Given the description of an element on the screen output the (x, y) to click on. 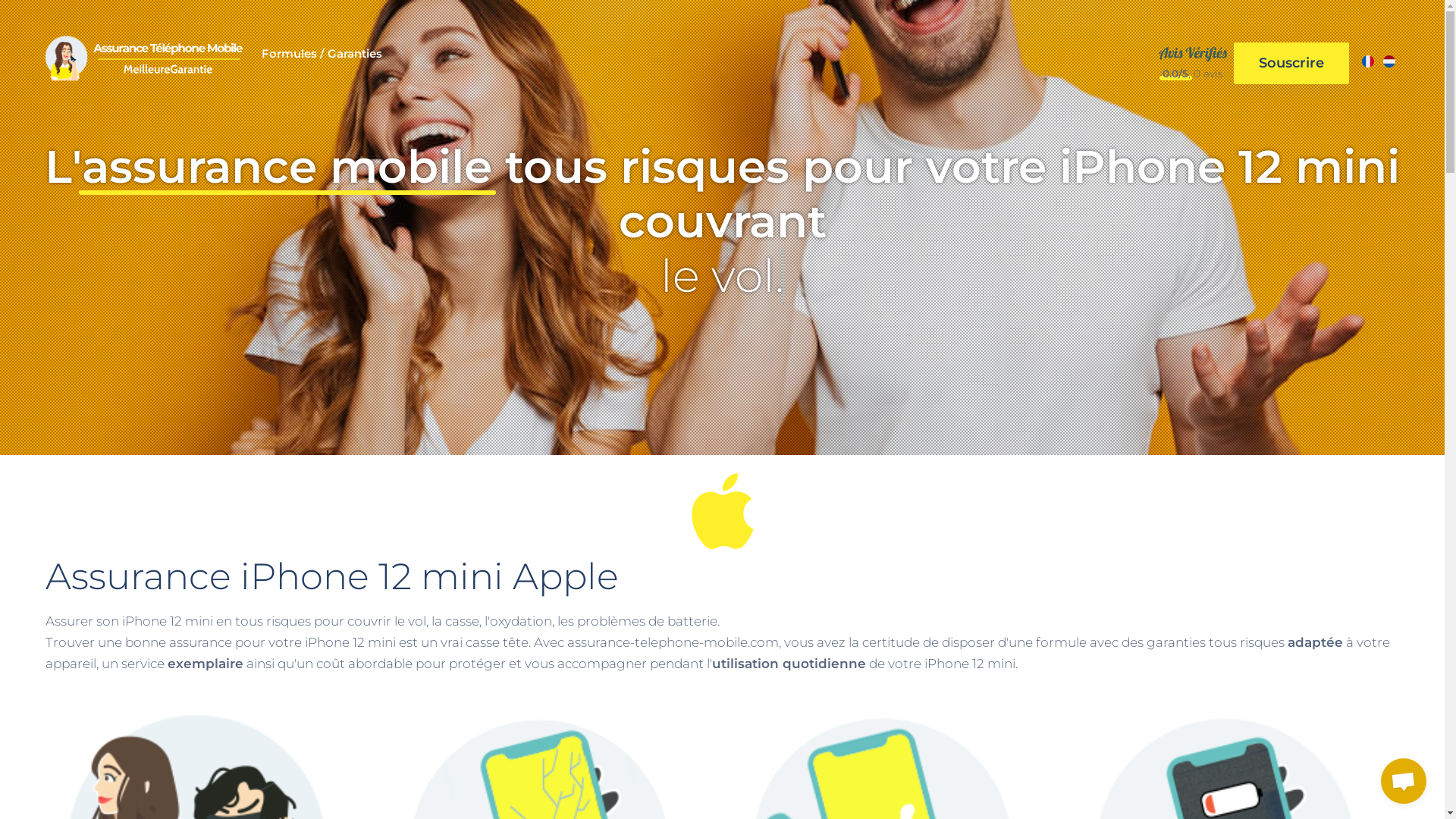
Formules / Garanties Element type: text (321, 62)
Souscrire Element type: text (1291, 63)
